Given the description of an element on the screen output the (x, y) to click on. 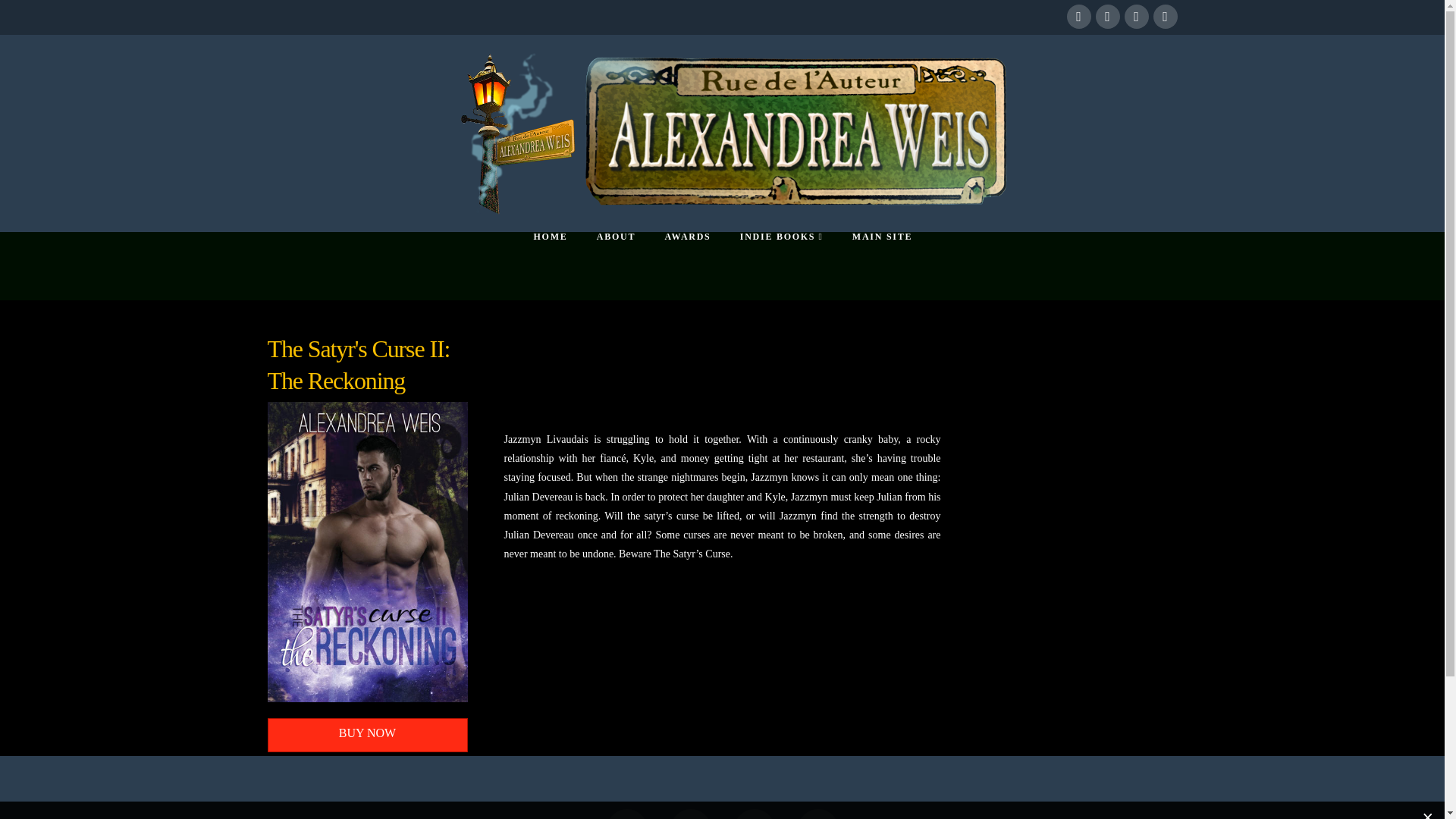
Instagram (817, 814)
AWARDS (686, 265)
HOME (549, 265)
MAIN SITE (881, 265)
Facebook (1077, 16)
Facebook (627, 814)
LinkedIn (1136, 16)
ABOUT (614, 265)
LinkedIn (753, 814)
BUY NOW (366, 735)
